Given the description of an element on the screen output the (x, y) to click on. 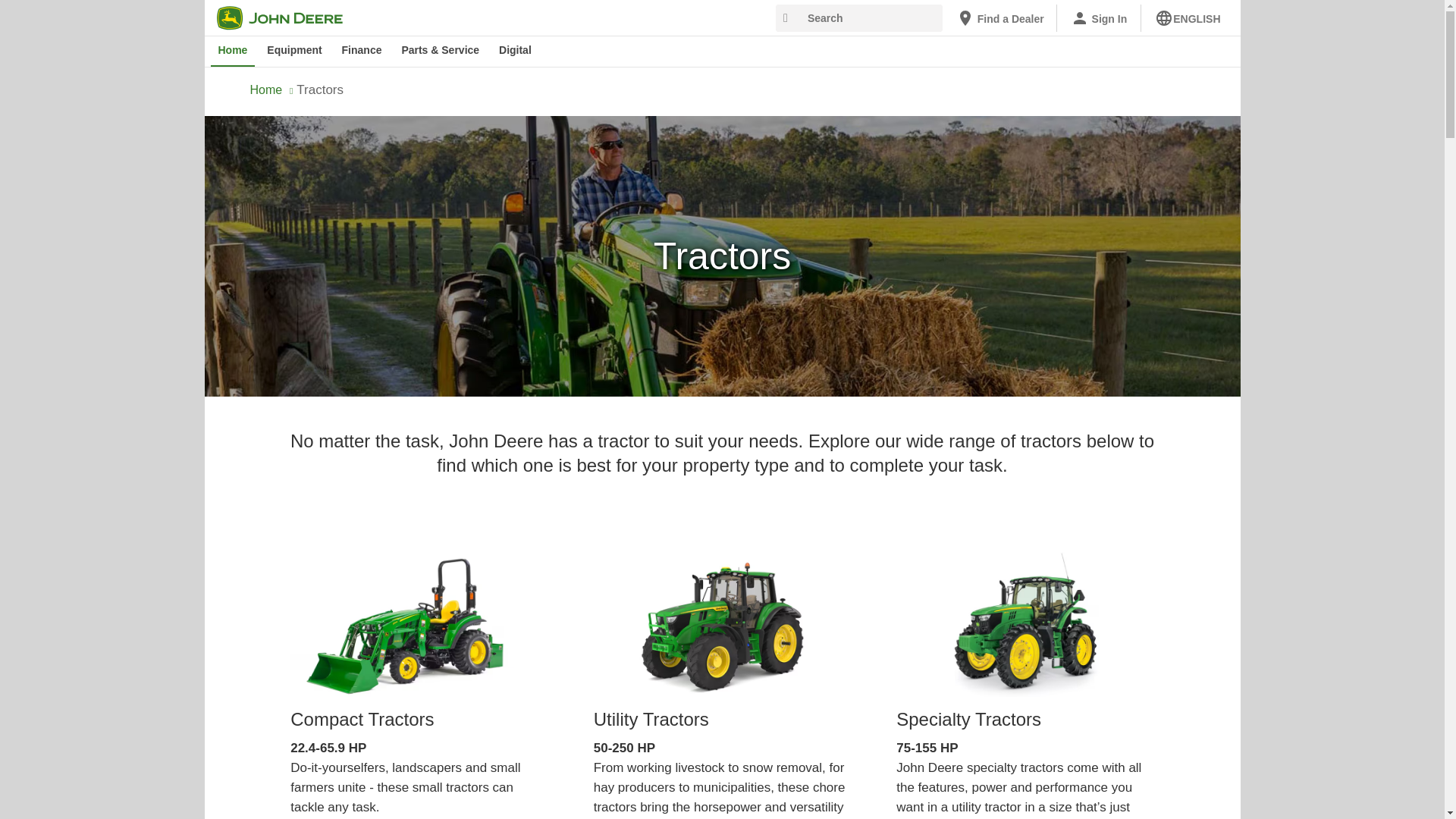
ENGLISH (1186, 17)
Skip to main content (214, 11)
John Deere (288, 17)
Find a Dealer (1000, 17)
Equipment (294, 51)
Home (233, 51)
Digital (515, 51)
Sign In (1099, 17)
Finance (362, 51)
